Given the description of an element on the screen output the (x, y) to click on. 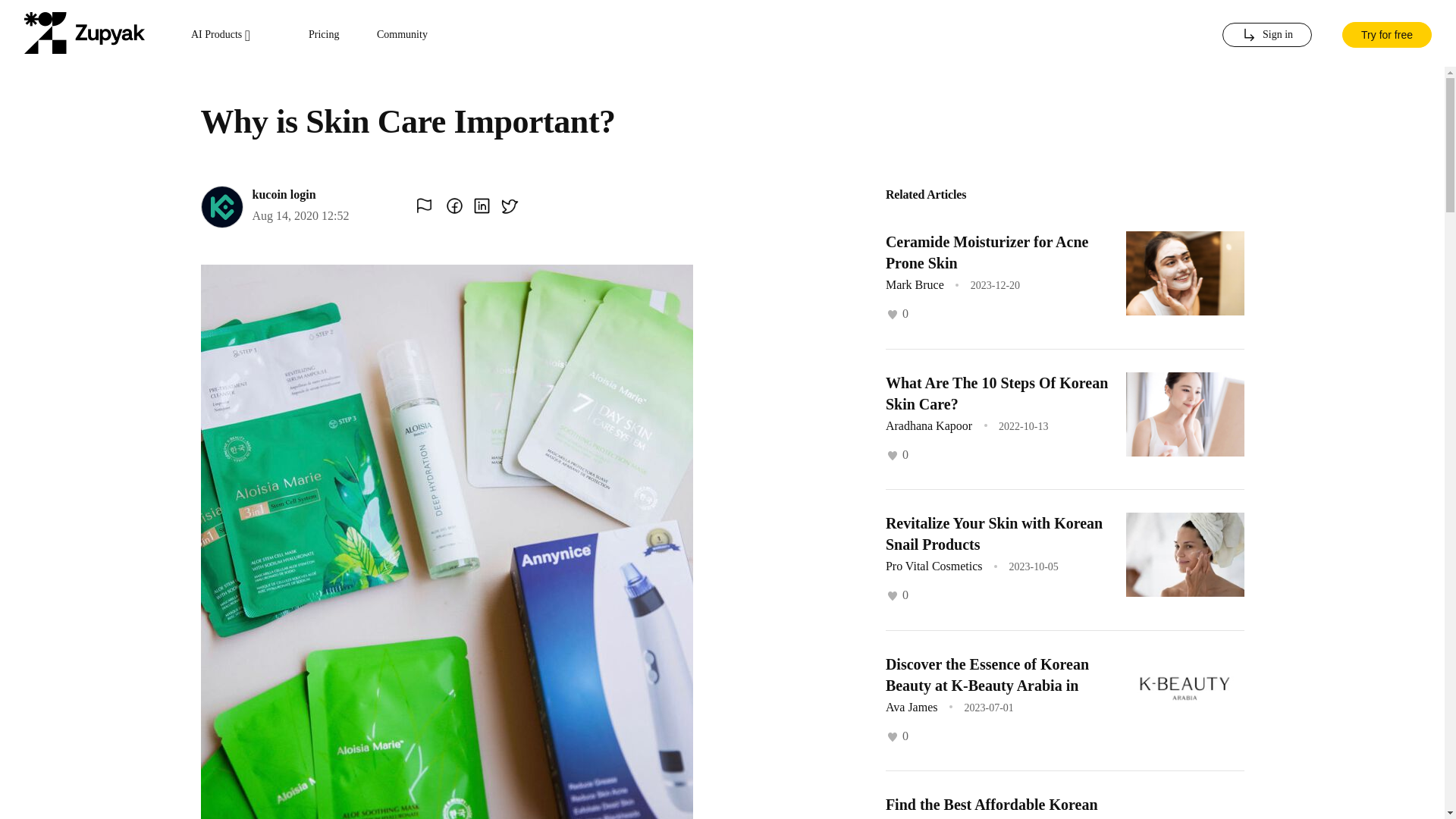
 Sign in (1267, 34)
Ceramide Moisturizer for Acne Prone Skin (987, 252)
Try for free (1386, 33)
Revitalize Your Skin with Korean Snail Products (993, 533)
What Are The 10 Steps Of Korean Skin Care? (996, 393)
Ceramide Moisturizer for Acne Prone Skin (987, 252)
Community (402, 34)
What Are The 10 Steps Of Korean Skin Care? (996, 393)
Pricing (323, 34)
